Given the description of an element on the screen output the (x, y) to click on. 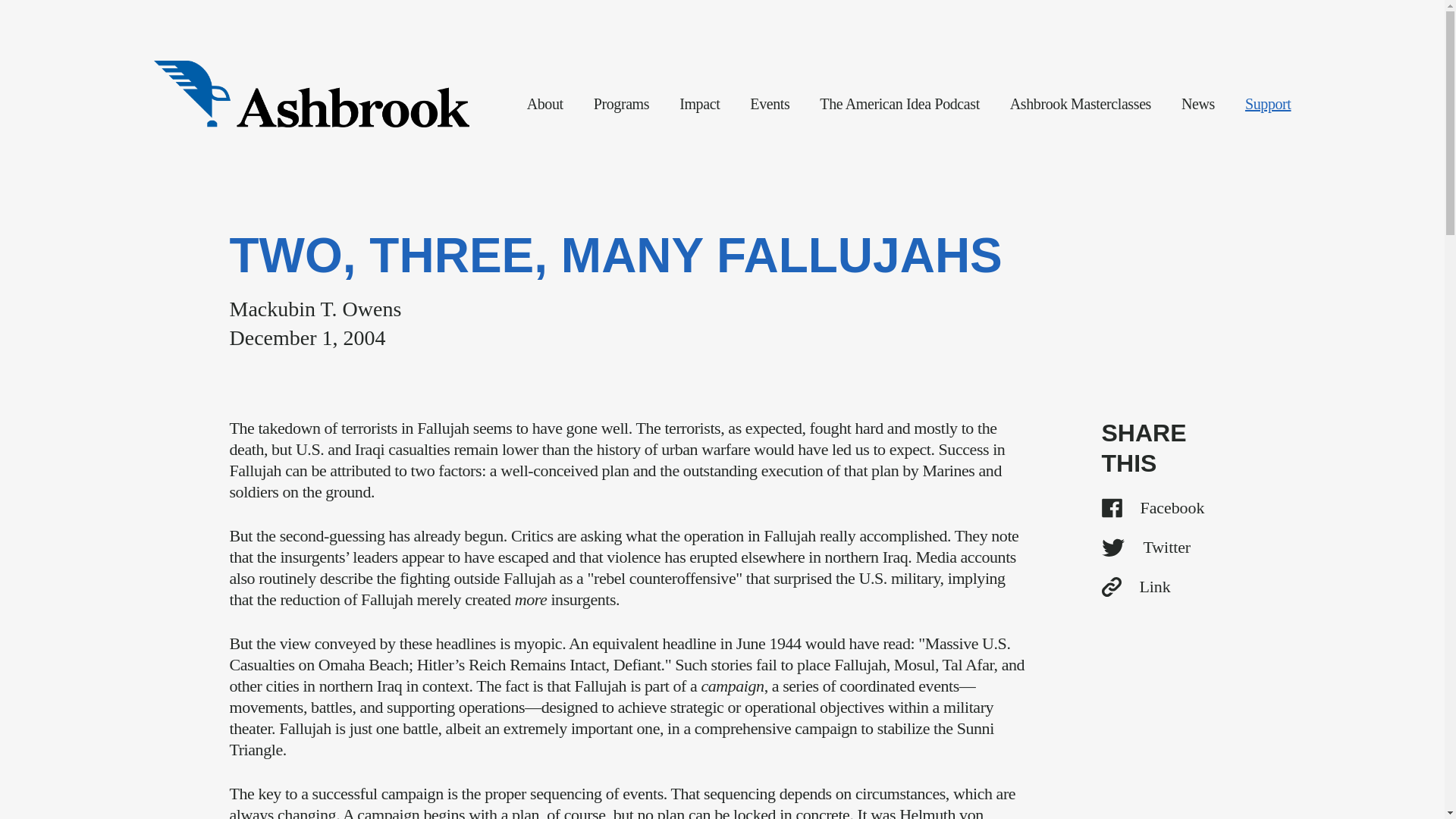
Ashbrook Center (310, 93)
News (1197, 103)
Events (769, 103)
Impact (699, 103)
About (545, 103)
Twitter (1157, 547)
The American Idea Podcast (898, 103)
Programs (621, 103)
Link (1157, 586)
Facebook (1157, 507)
